Given the description of an element on the screen output the (x, y) to click on. 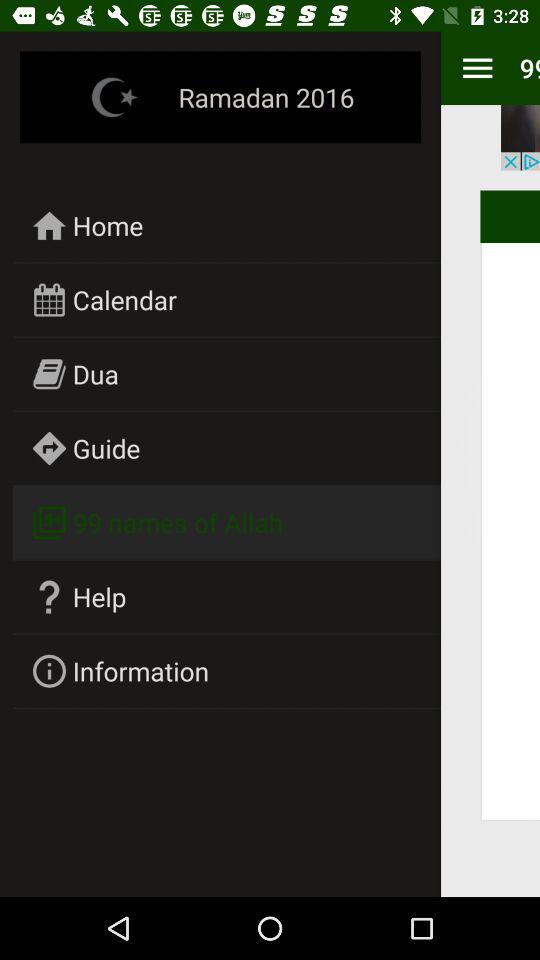
open the dua icon (95, 373)
